Given the description of an element on the screen output the (x, y) to click on. 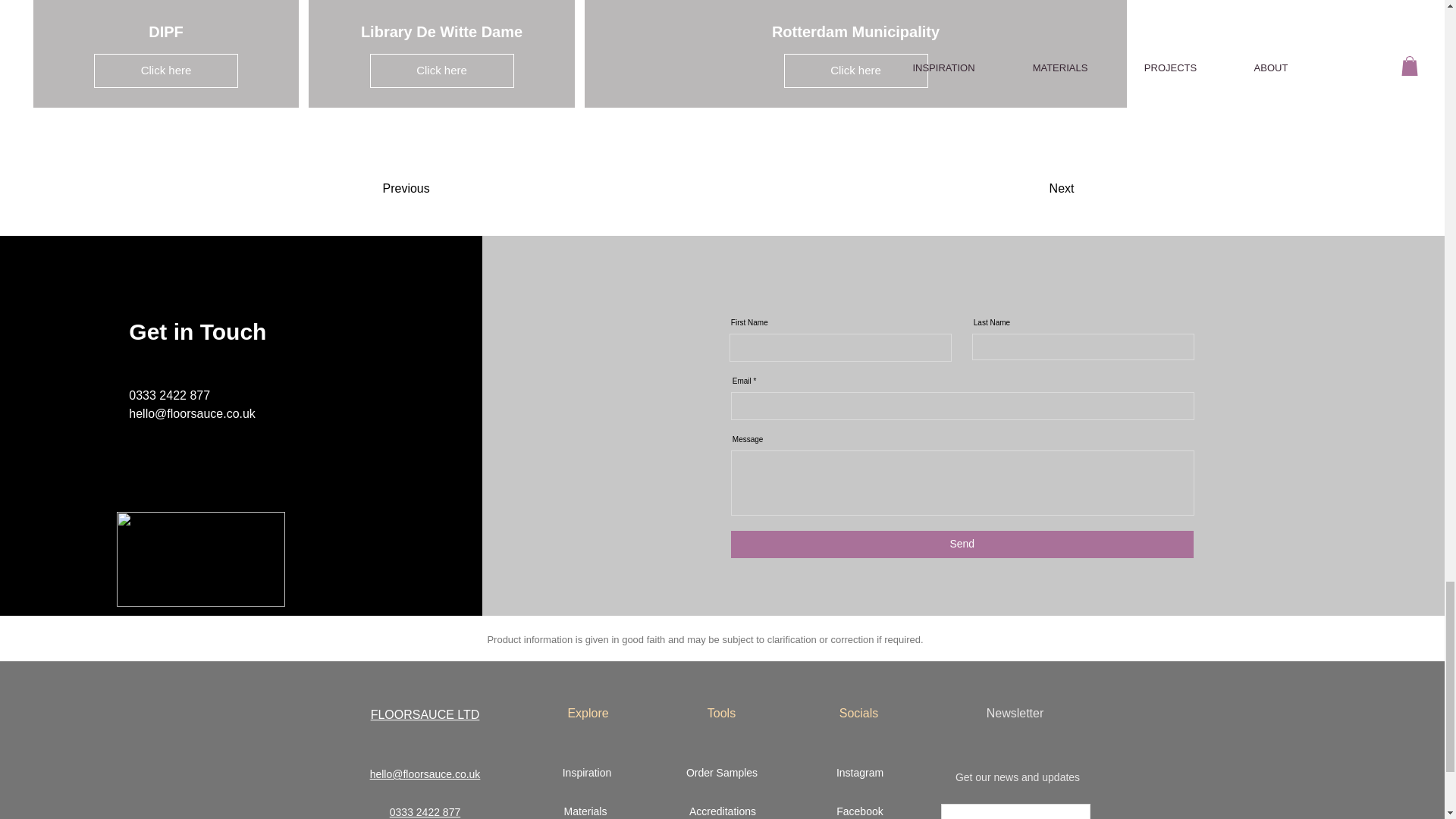
FLOORSAUCE LTD (425, 714)
Click here (166, 69)
Click here (441, 69)
Next (1032, 188)
0333 2422 877 (425, 811)
Previous (424, 188)
Click here (856, 69)
Send (961, 543)
